Given the description of an element on the screen output the (x, y) to click on. 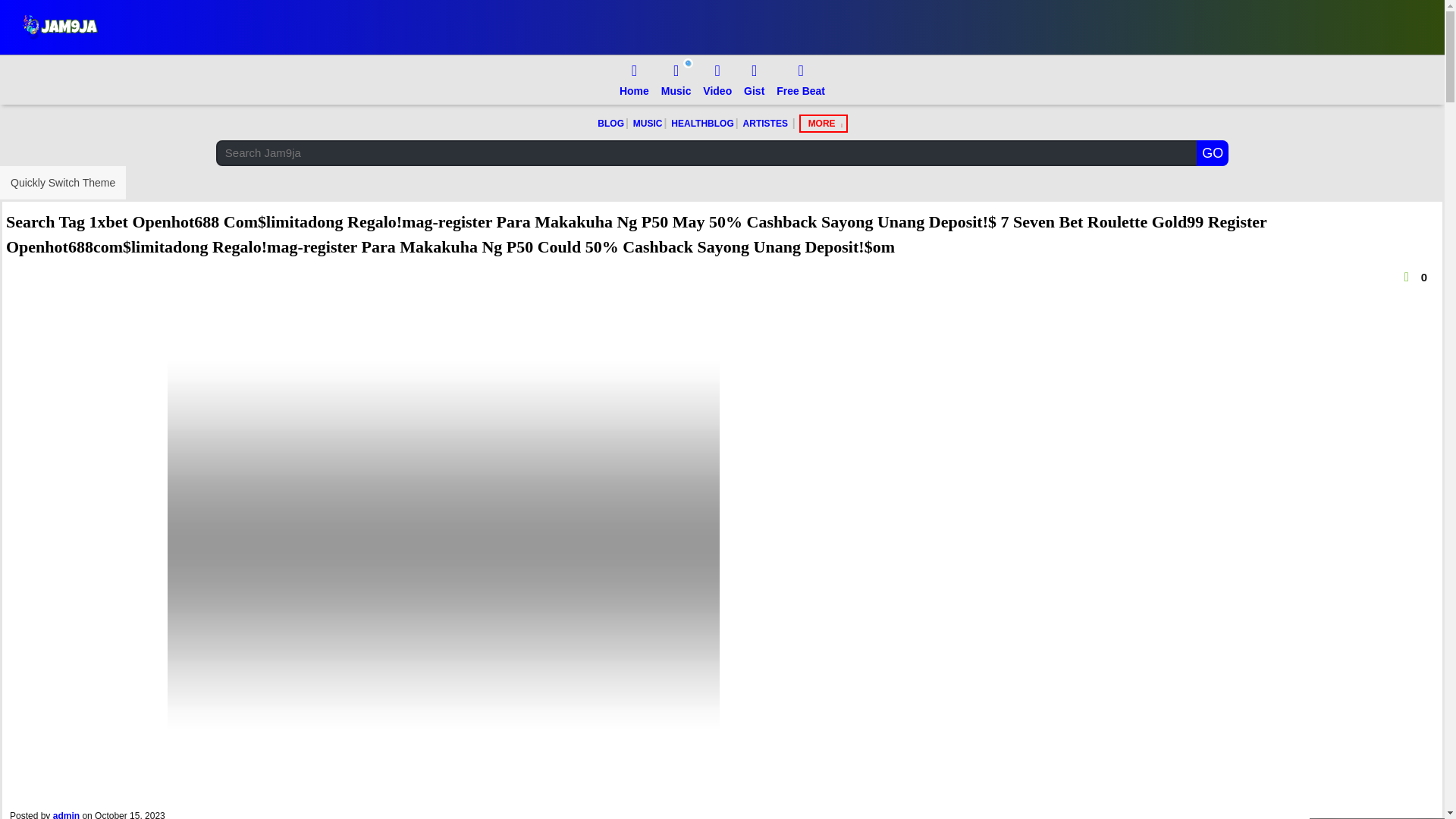
MUSIC (647, 124)
Quickly Switch Theme (62, 182)
admin (66, 814)
GO (1212, 153)
Quickly Switch Theme (62, 182)
BLOG (610, 124)
Posts by admin (66, 814)
HEALTHBLOG (701, 124)
ARTISTES (765, 124)
Free Beat (800, 79)
